Given the description of an element on the screen output the (x, y) to click on. 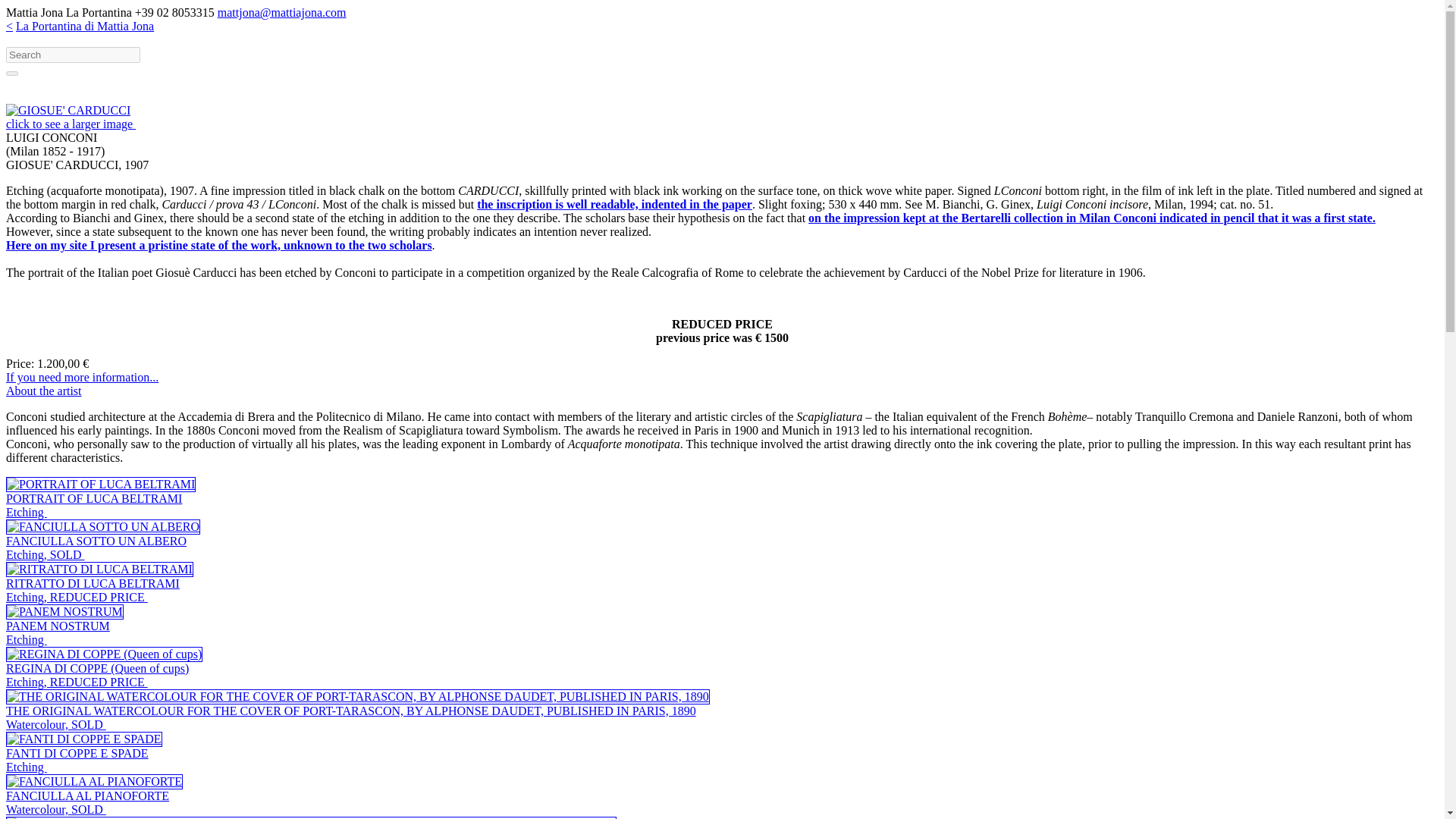
the inscription is well readable, indented in the paper (614, 204)
About the artist (43, 390)
La Portantina di Mattia Jona (85, 25)
If you need more information... (92, 590)
stato pristino (95, 547)
iscrizione (81, 377)
